Given the description of an element on the screen output the (x, y) to click on. 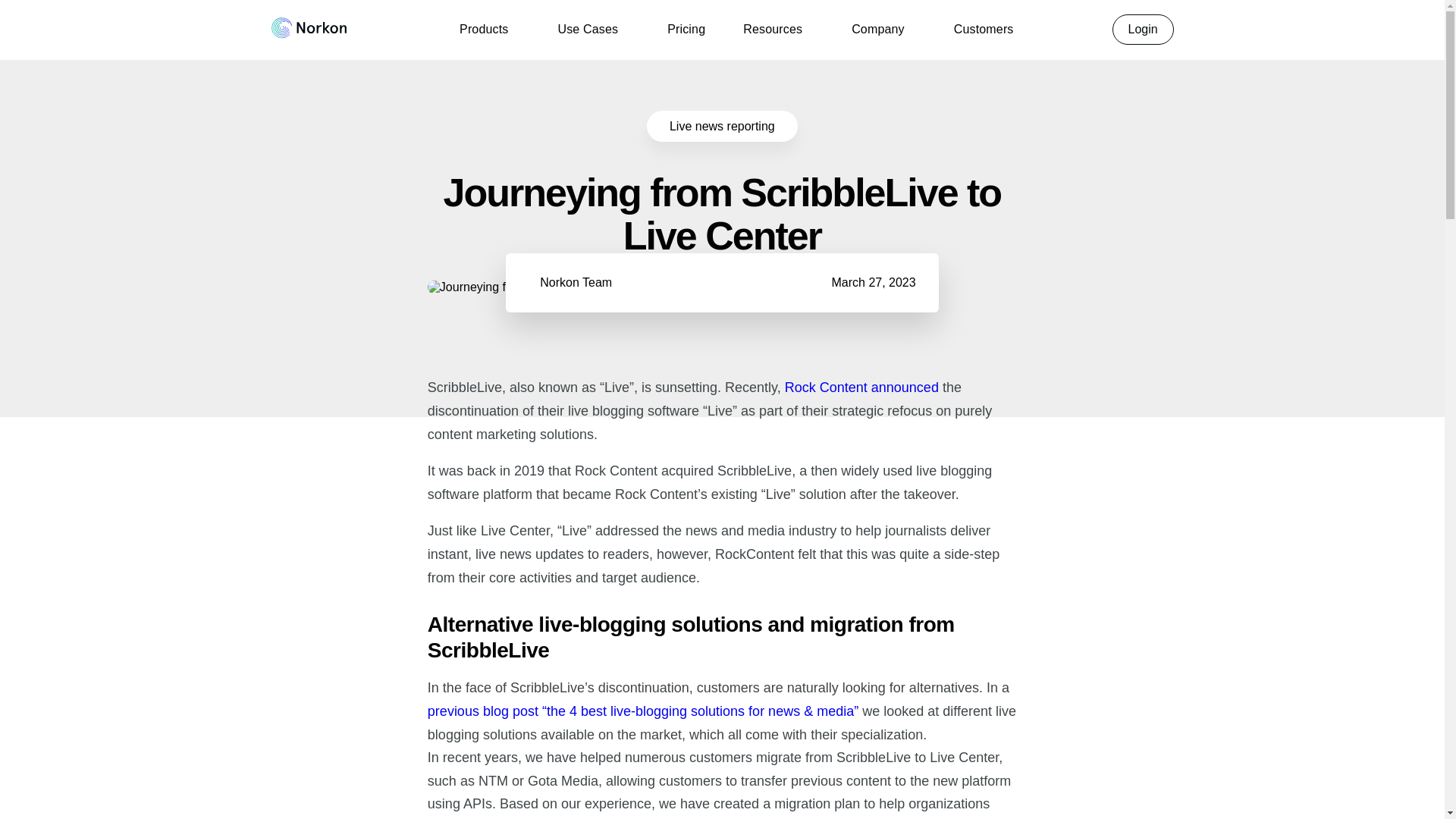
Login (1142, 29)
Pricing (685, 29)
Resources (772, 29)
Use Cases (587, 29)
Customers (983, 29)
Products (484, 29)
Rock Content announced (861, 387)
Company (877, 29)
